Given the description of an element on the screen output the (x, y) to click on. 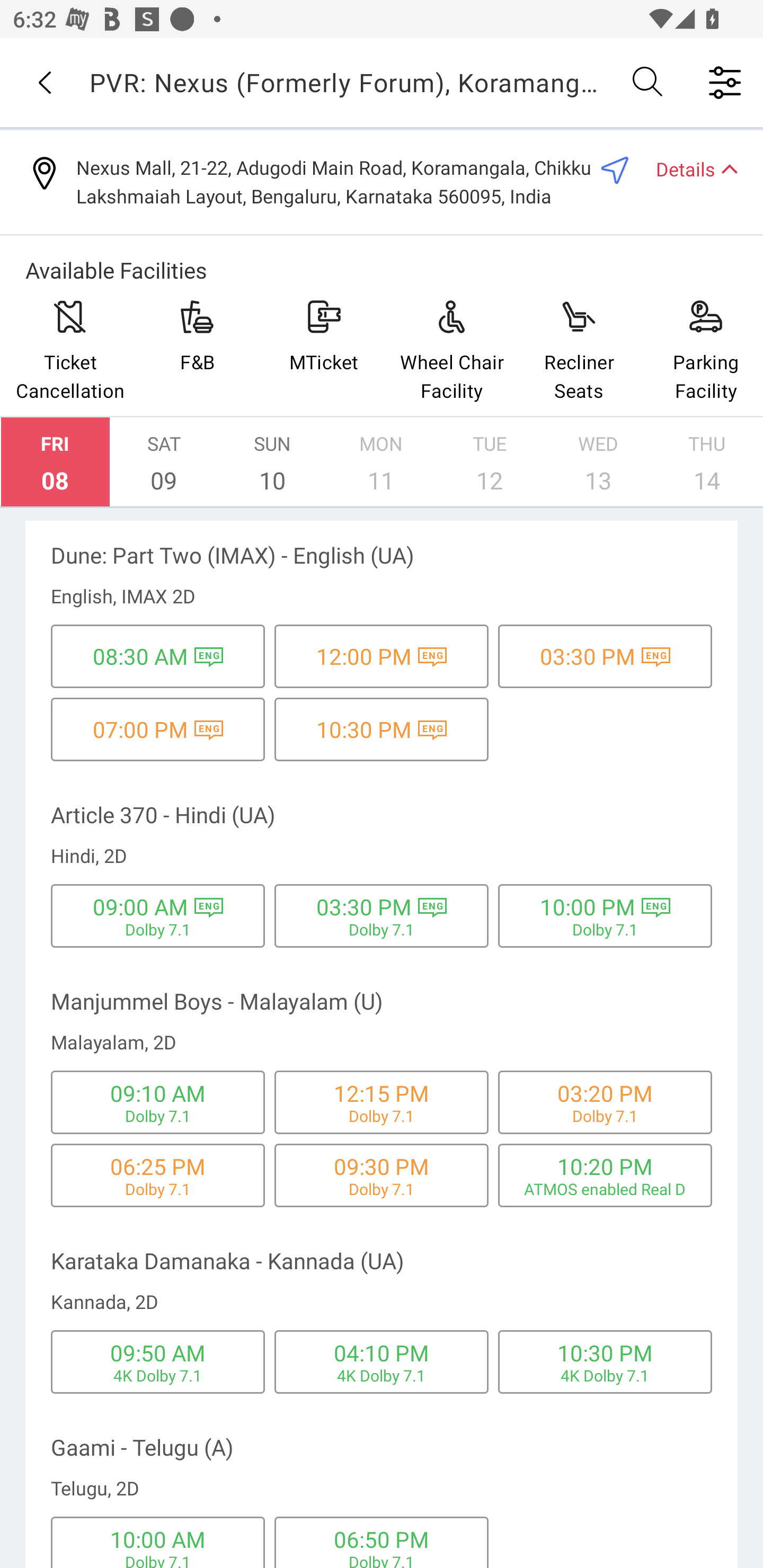
Navigate up (44, 82)
Search (648, 81)
Filter (724, 81)
Details (688, 168)
SAT 09 MAR (163, 461)
SUN 10 MAR (272, 461)
MON 11 MAR (380, 461)
TUE 12 MAR (489, 461)
WED 13 MAR (598, 461)
THU 14 MAR (707, 461)
08:30 AM ENG (157, 656)
12:00 PM ENG (381, 656)
03:30 PM ENG (604, 656)
08:30 AM (140, 656)
12:00 PM (364, 656)
03:30 PM (587, 656)
07:00 PM ENG (157, 728)
10:30 PM ENG (381, 728)
07:00 PM (140, 728)
10:30 PM (364, 728)
09:00 AM ENG Dolby 7.1 (157, 915)
03:30 PM ENG Dolby 7.1 (381, 915)
10:00 PM ENG Dolby 7.1 (604, 915)
09:00 AM (140, 906)
03:30 PM (364, 906)
10:00 PM (587, 906)
Dolby 7.1 (157, 929)
Dolby 7.1 (381, 929)
Dolby 7.1 (604, 929)
09:10 AM (157, 1093)
12:15 PM (381, 1093)
03:20 PM (605, 1093)
Dolby 7.1 (157, 1116)
Dolby 7.1 (381, 1116)
Dolby 7.1 (604, 1116)
06:25 PM (157, 1165)
09:30 PM (381, 1165)
10:20 PM (605, 1165)
Dolby 7.1 (157, 1188)
Dolby 7.1 (381, 1188)
ATMOS enabled Real D (604, 1188)
09:50 AM (157, 1352)
04:10 PM (381, 1352)
10:30 PM (605, 1352)
4K Dolby 7.1 (157, 1375)
4K Dolby 7.1 (381, 1375)
4K Dolby 7.1 (604, 1375)
10:00 AM (157, 1538)
06:50 PM (381, 1538)
Dolby 7.1 (157, 1559)
Dolby 7.1 (381, 1559)
